Given the description of an element on the screen output the (x, y) to click on. 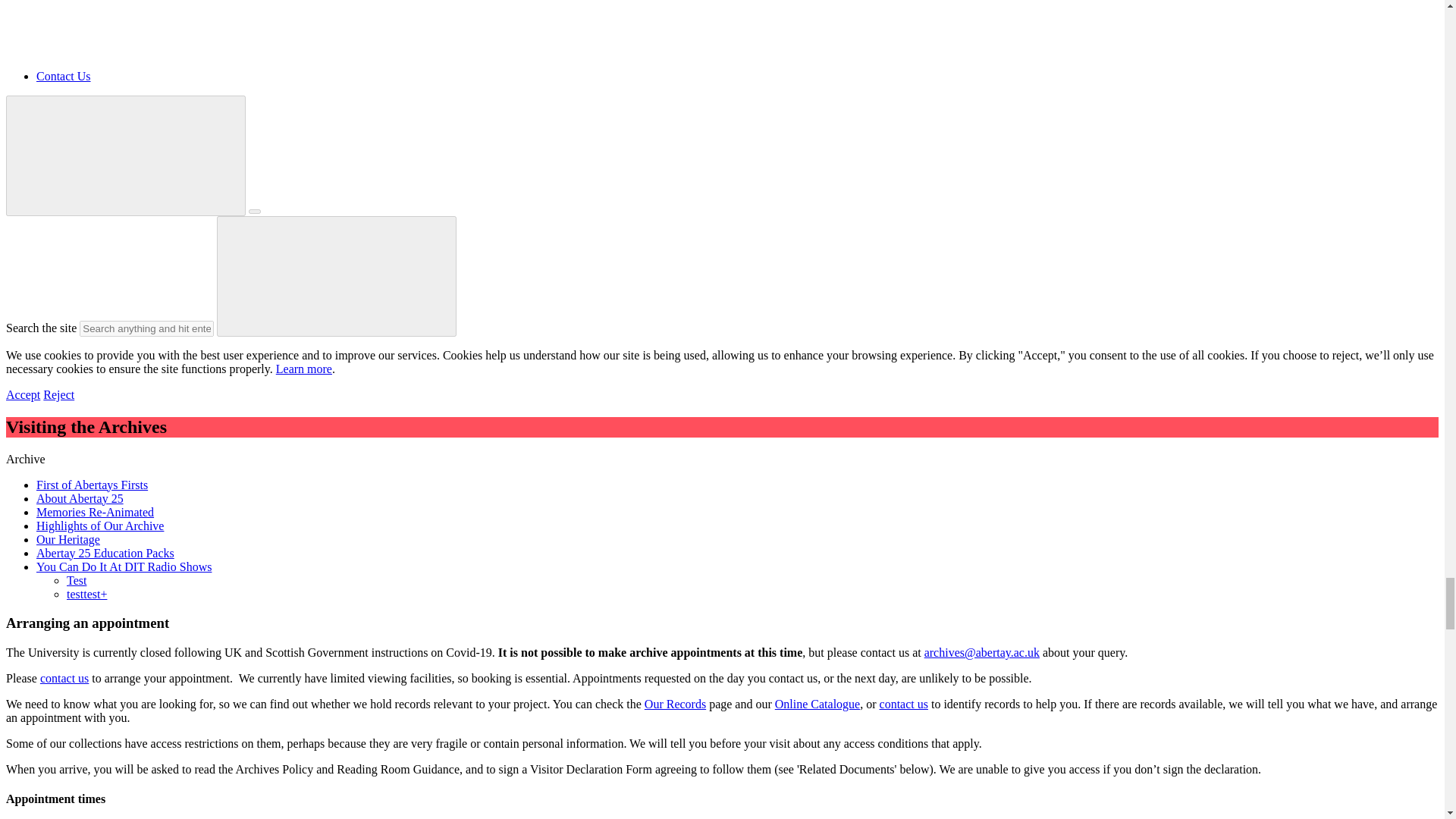
Contact the Archives (64, 677)
Cookies (303, 368)
